Given the description of an element on the screen output the (x, y) to click on. 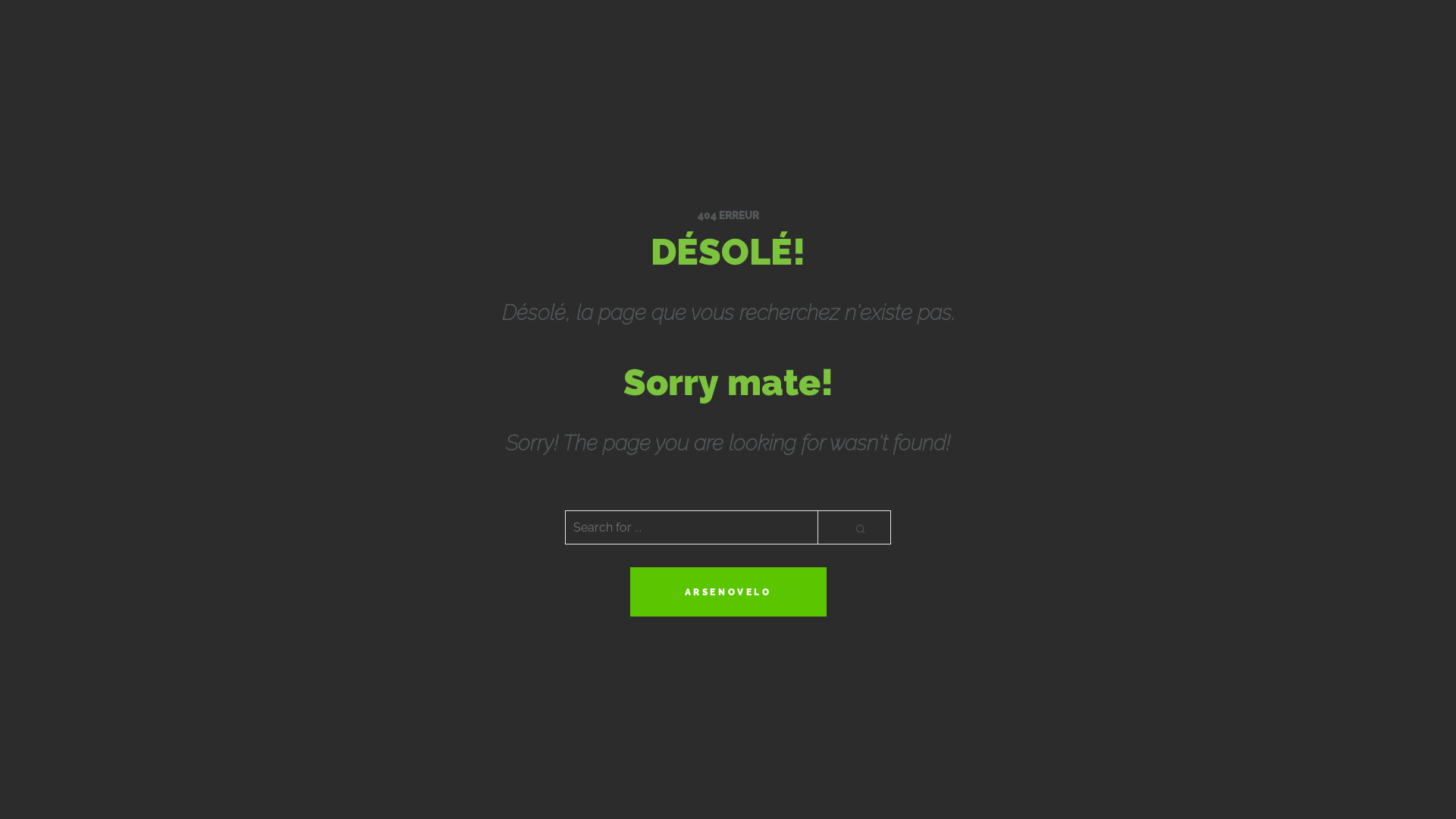
ARSENOVELO Element type: text (727, 591)
